Given the description of an element on the screen output the (x, y) to click on. 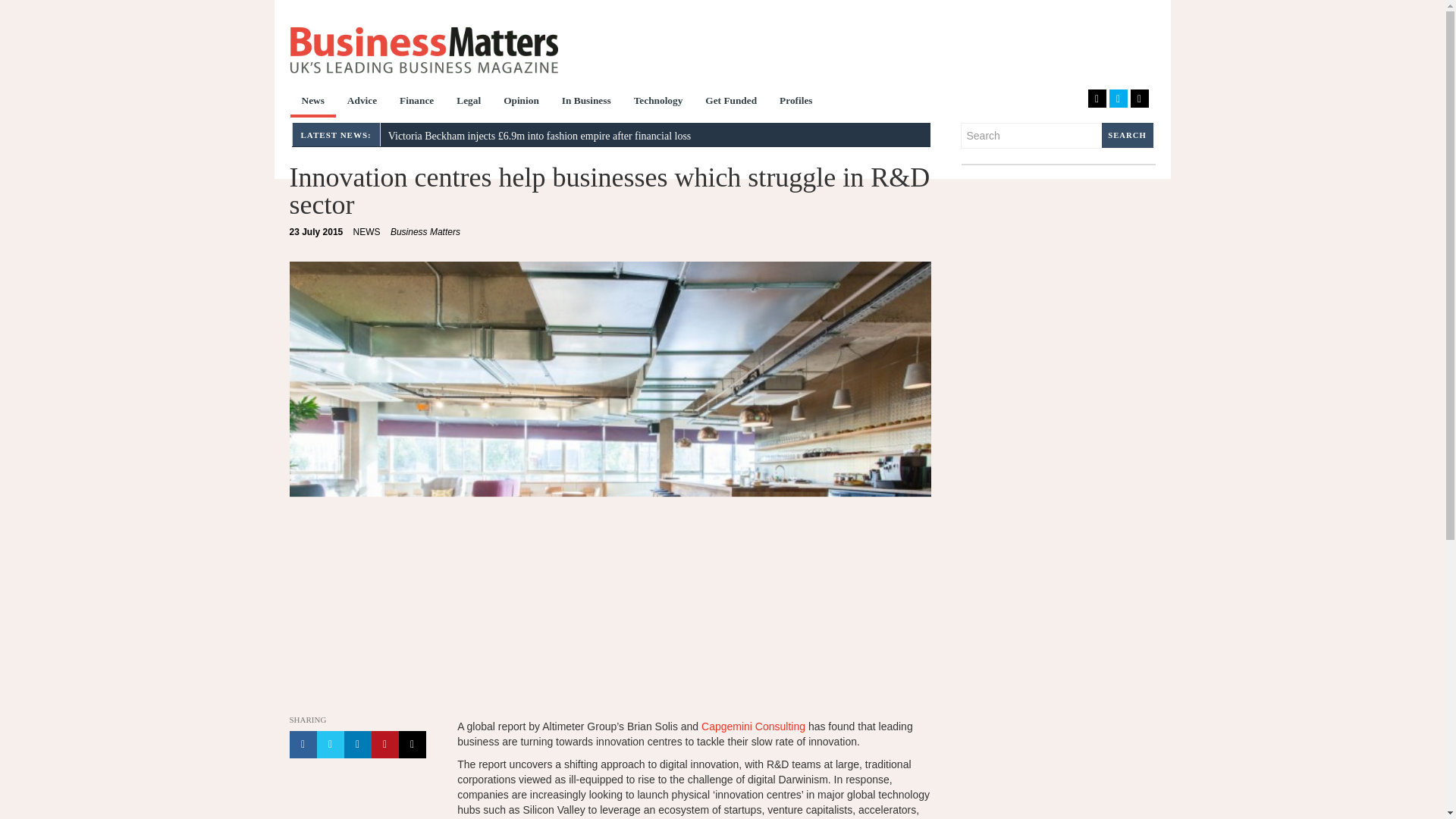
News (311, 101)
23 July 2015 (316, 231)
Advice (362, 101)
Technology (658, 101)
Opinion (521, 101)
Profiles (796, 101)
NEWS (366, 231)
Business Matters (425, 231)
Finance (416, 101)
Capgemini Consulting (753, 726)
